Given the description of an element on the screen output the (x, y) to click on. 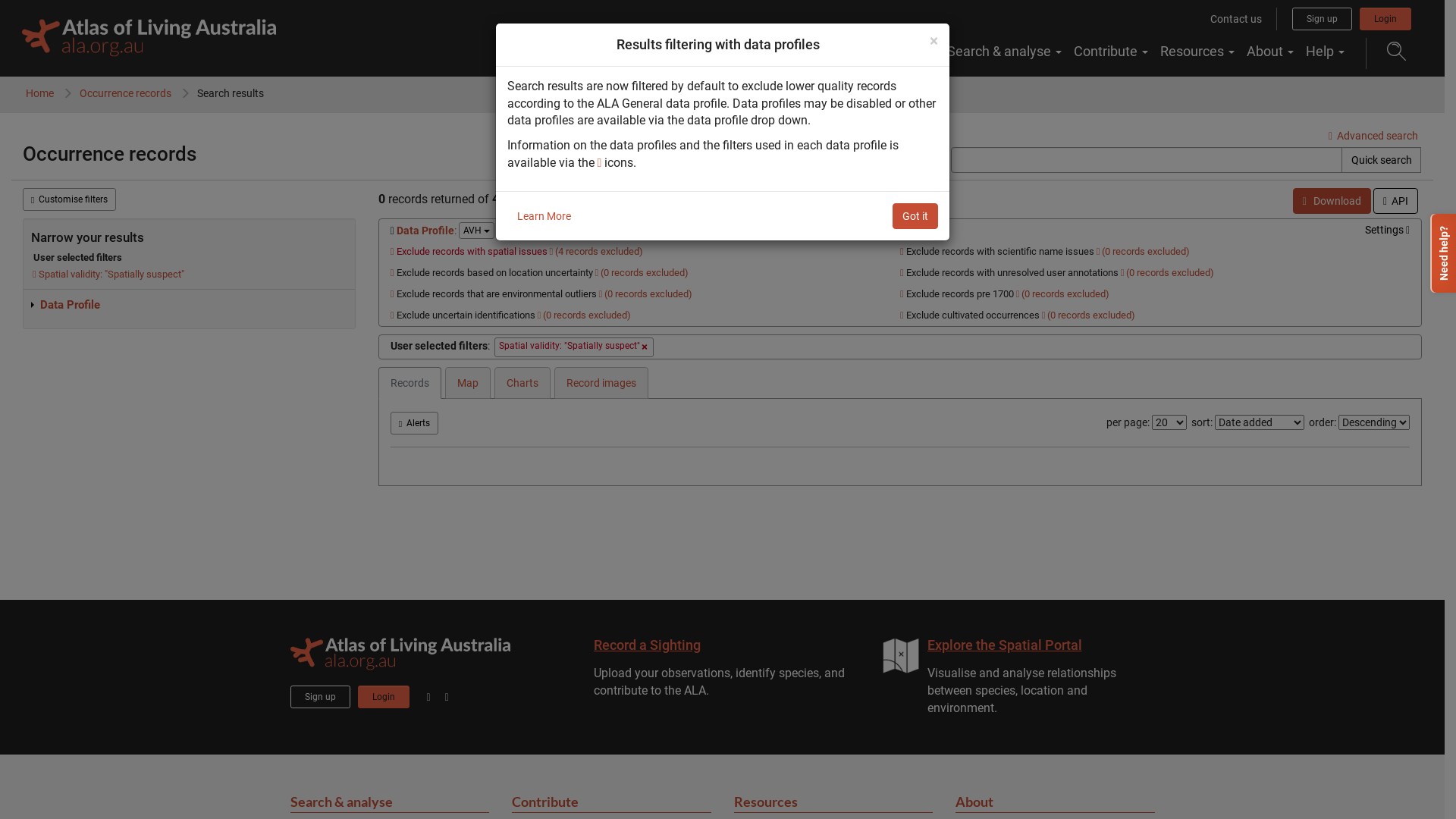
Resources Element type: text (1197, 51)
About Element type: text (1269, 51)
 Select filters Element type: text (551, 230)
(0 records excluded) Element type: text (1170, 272)
Home Element type: text (39, 93)
Settings  Element type: text (1387, 229)
(0 records excluded) Element type: text (1065, 293)
Login Element type: text (383, 696)
Record images Element type: text (601, 382)
Learn More Element type: text (543, 216)
Search & analyse Element type: text (389, 802)
  Download Element type: text (1331, 200)
Occurrence records Element type: text (125, 93)
Contact us Element type: text (1235, 18)
Search & analyse Element type: text (1004, 51)
Quick search Element type: text (1381, 159)
Record a Sighting Element type: text (646, 644)
 Data Profile: Element type: text (423, 230)
Help Element type: text (1324, 51)
(0 records excluded) Element type: text (644, 272)
  Alerts Element type: text (413, 422)
Got it Element type: text (914, 216)
  API Element type: text (1395, 200)
Contribute Element type: text (1110, 51)
Login Element type: text (1385, 18)
Sign up Element type: text (1322, 18)
Sign up Element type: text (319, 696)
Map Element type: text (467, 382)
 Spatial validity: "Spatially suspect" Element type: text (109, 273)
Resources Element type: text (833, 802)
(4 records excluded) Element type: text (599, 251)
Explore the Spatial Portal Element type: text (1003, 644)
Advanced search Element type: text (1373, 135)
(0 records excluded) Element type: text (586, 314)
genus: Centrophorus Element type: text (571, 199)
AVH Element type: text (476, 230)
  Element type: text (198, 153)
  Customise filters Element type: text (69, 199)
(0 records excluded) Element type: text (648, 293)
Charts Element type: text (522, 382)
About Element type: text (1054, 802)
Data Profile Element type: text (65, 304)
Contribute Element type: text (611, 802)
Records Element type: text (409, 382)
(0 records excluded) Element type: text (1091, 314)
(0 records excluded) Element type: text (1145, 251)
